Given the description of an element on the screen output the (x, y) to click on. 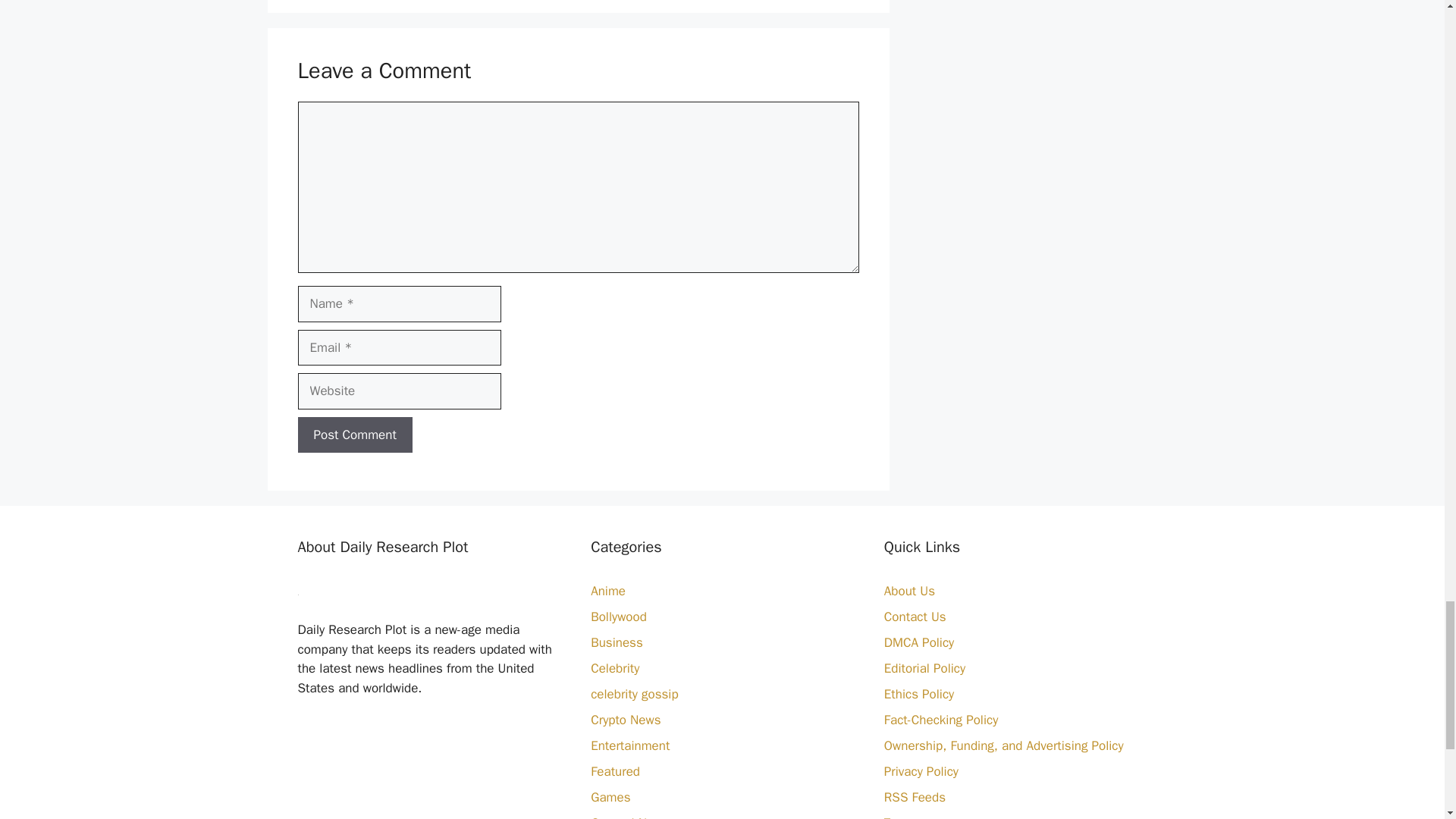
Post Comment (354, 434)
